Given the description of an element on the screen output the (x, y) to click on. 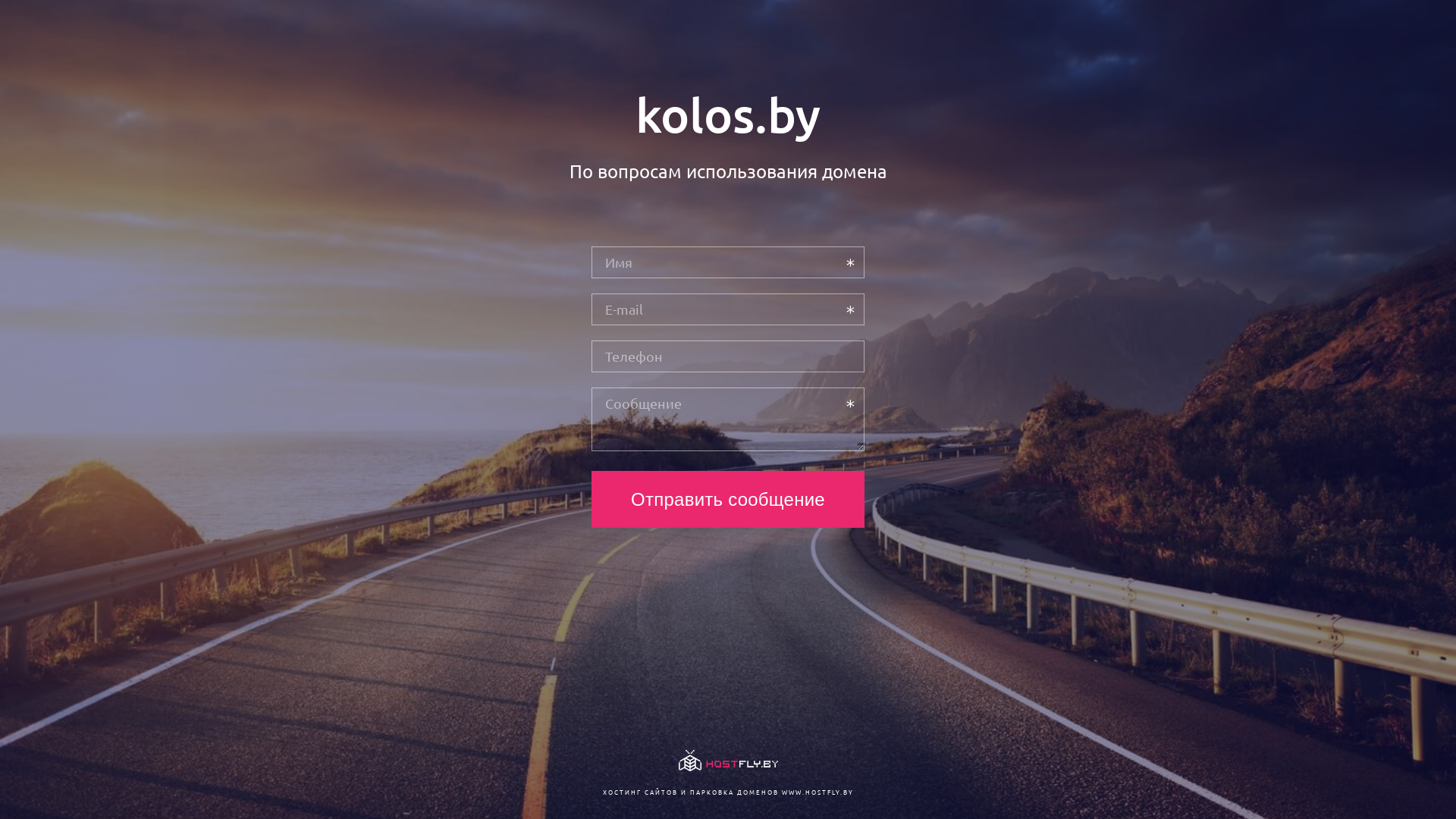
WWW.HOSTFLY.BY Element type: text (817, 791)
